Given the description of an element on the screen output the (x, y) to click on. 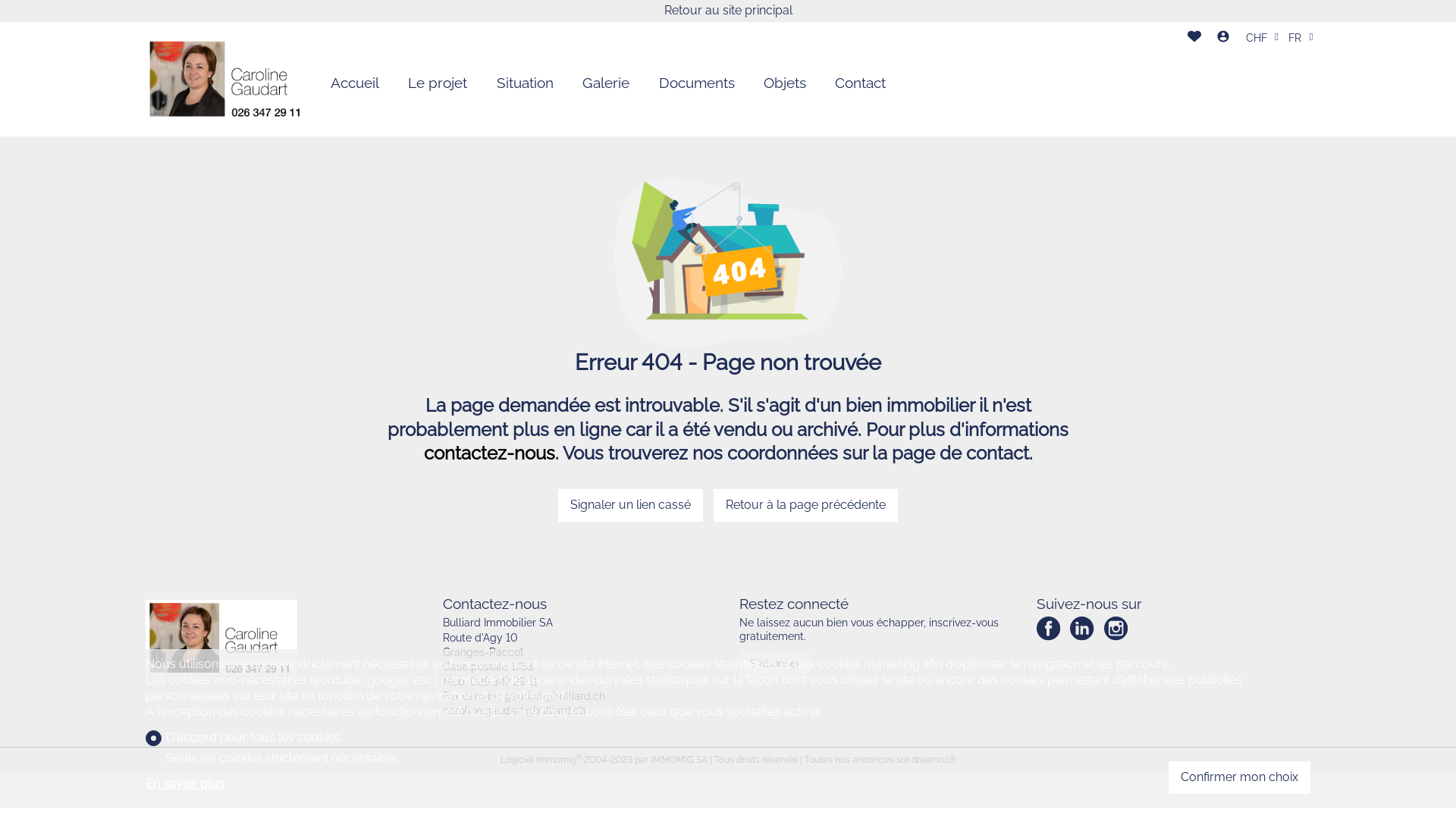
caroline.gaudart@bulliard.ch Element type: text (513, 710)
Objets Element type: text (784, 82)
En savoir plus Element type: text (271, 784)
026 347 29 11 Element type: text (503, 681)
Situation Element type: text (524, 82)
Retour au site principal Element type: text (728, 10)
contactez-nous Element type: text (488, 453)
Le projet Element type: text (437, 82)
Galerie Element type: text (605, 82)
S'abonner Element type: text (774, 663)
Contact Element type: text (859, 82)
caroline.gaudart@bulliard.ch Element type: text (533, 696)
Documents Element type: text (696, 82)
Confirmer mon choix Element type: text (1239, 777)
dreamo.ch Element type: text (933, 759)
Accueil Element type: text (354, 82)
